Given the description of an element on the screen output the (x, y) to click on. 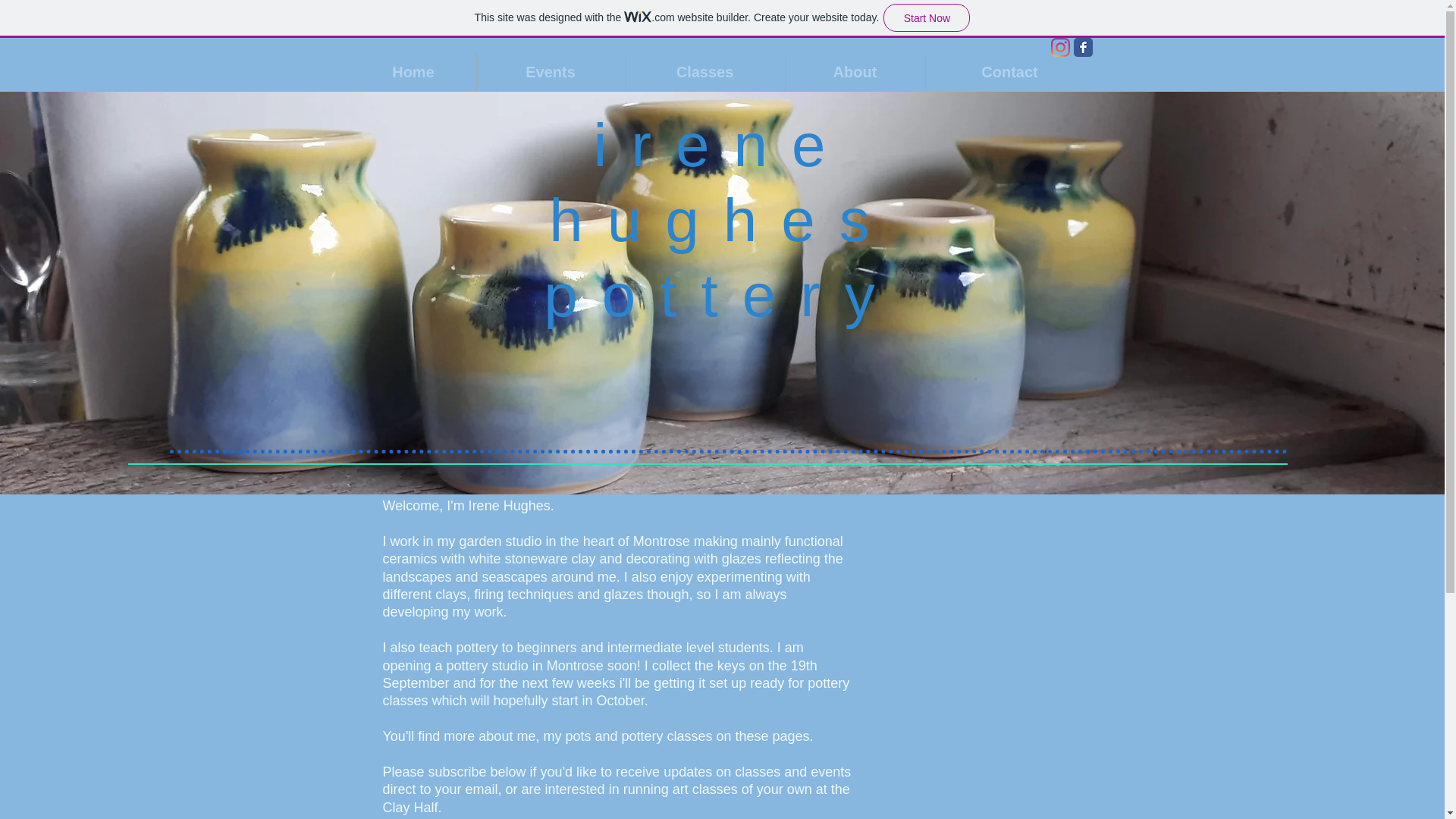
Classes (704, 71)
Events (550, 71)
Home (413, 71)
About (855, 71)
Contact (1008, 71)
